Given the description of an element on the screen output the (x, y) to click on. 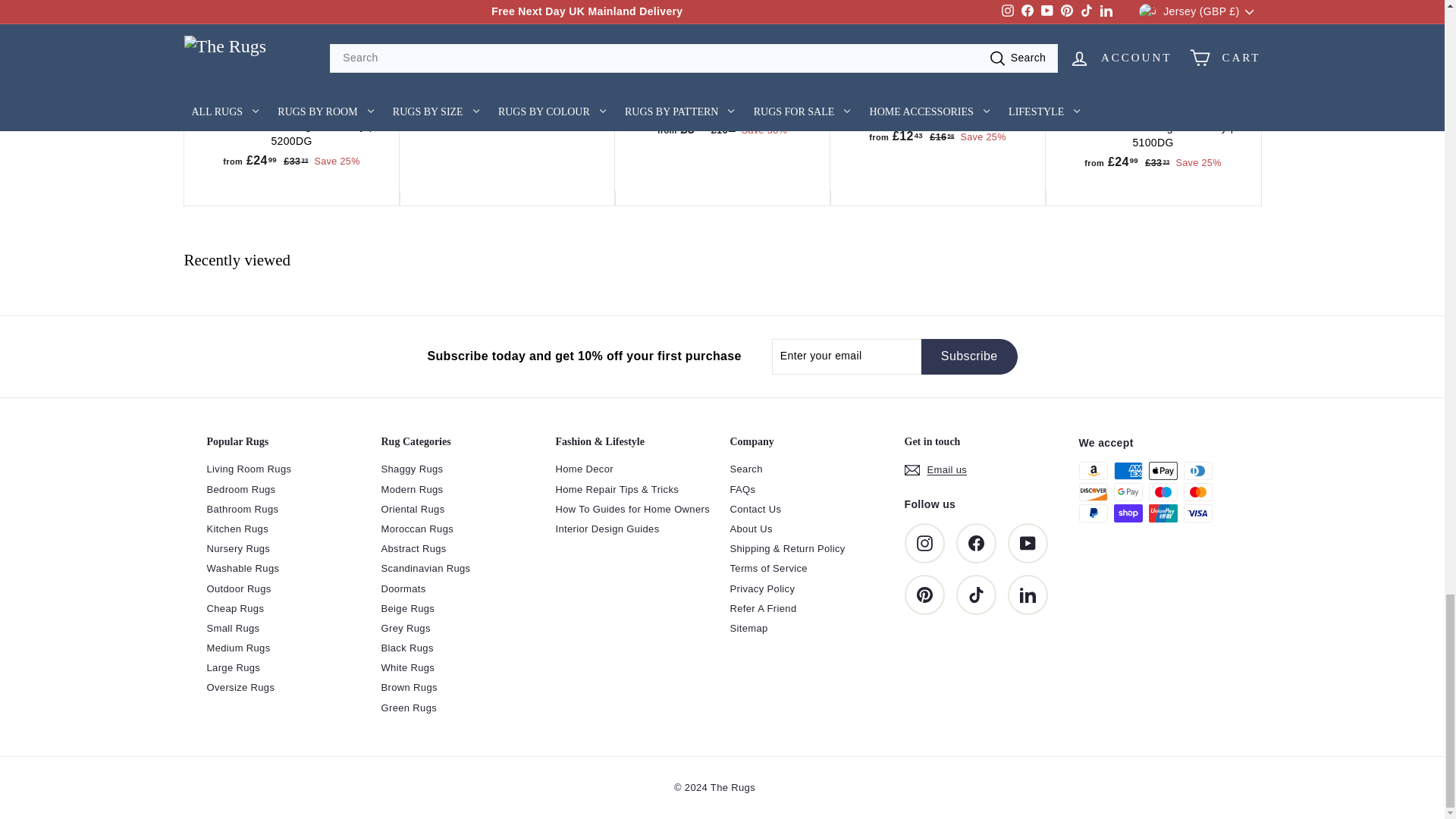
The Rugs on YouTube (1026, 543)
The Rugs on Instagram (923, 543)
The Rugs on Pinterest (923, 594)
The Rugs on Facebook (975, 543)
